Given the description of an element on the screen output the (x, y) to click on. 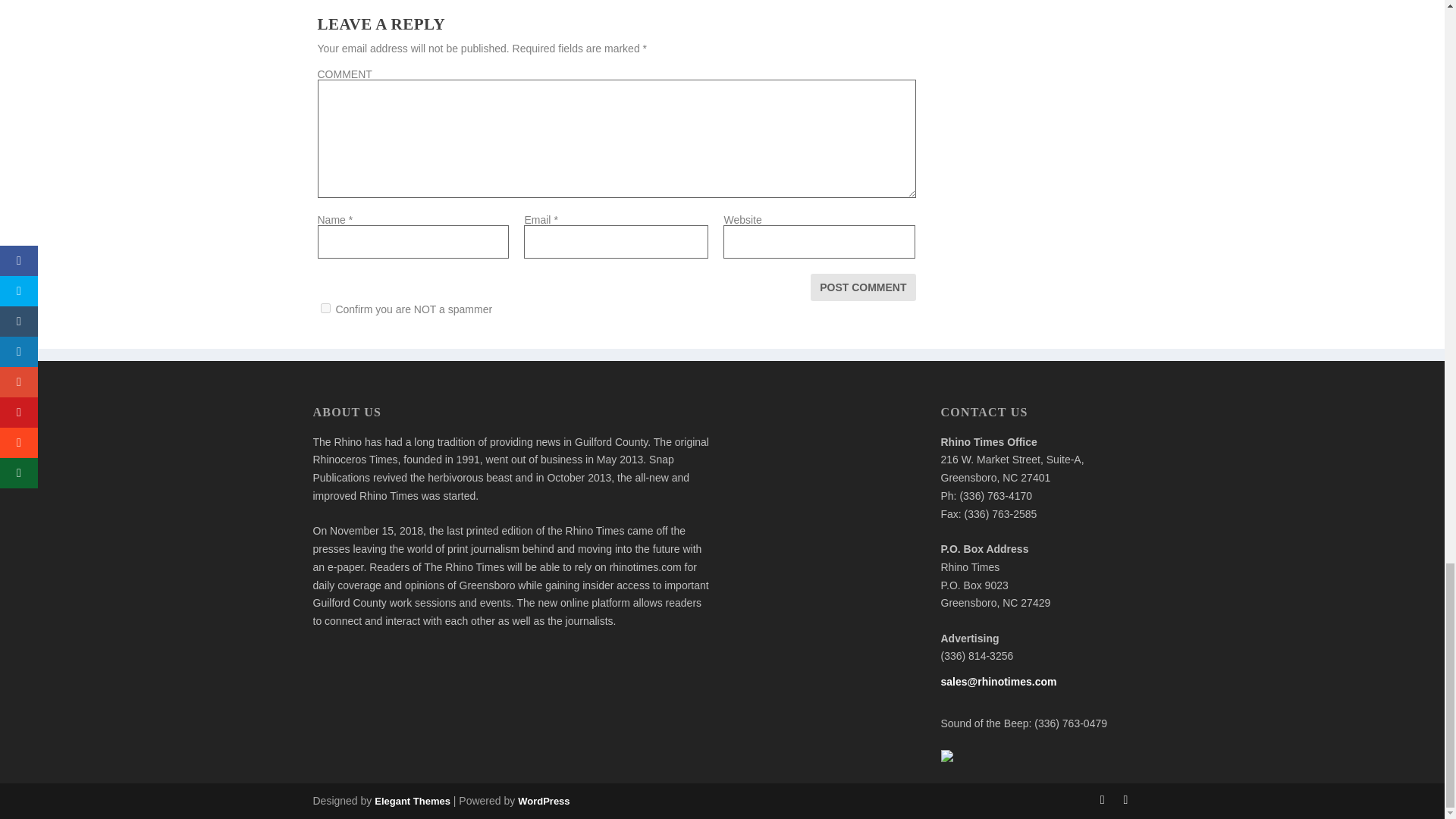
Premium WordPress Themes (411, 800)
on (325, 307)
Post Comment (862, 287)
